Given the description of an element on the screen output the (x, y) to click on. 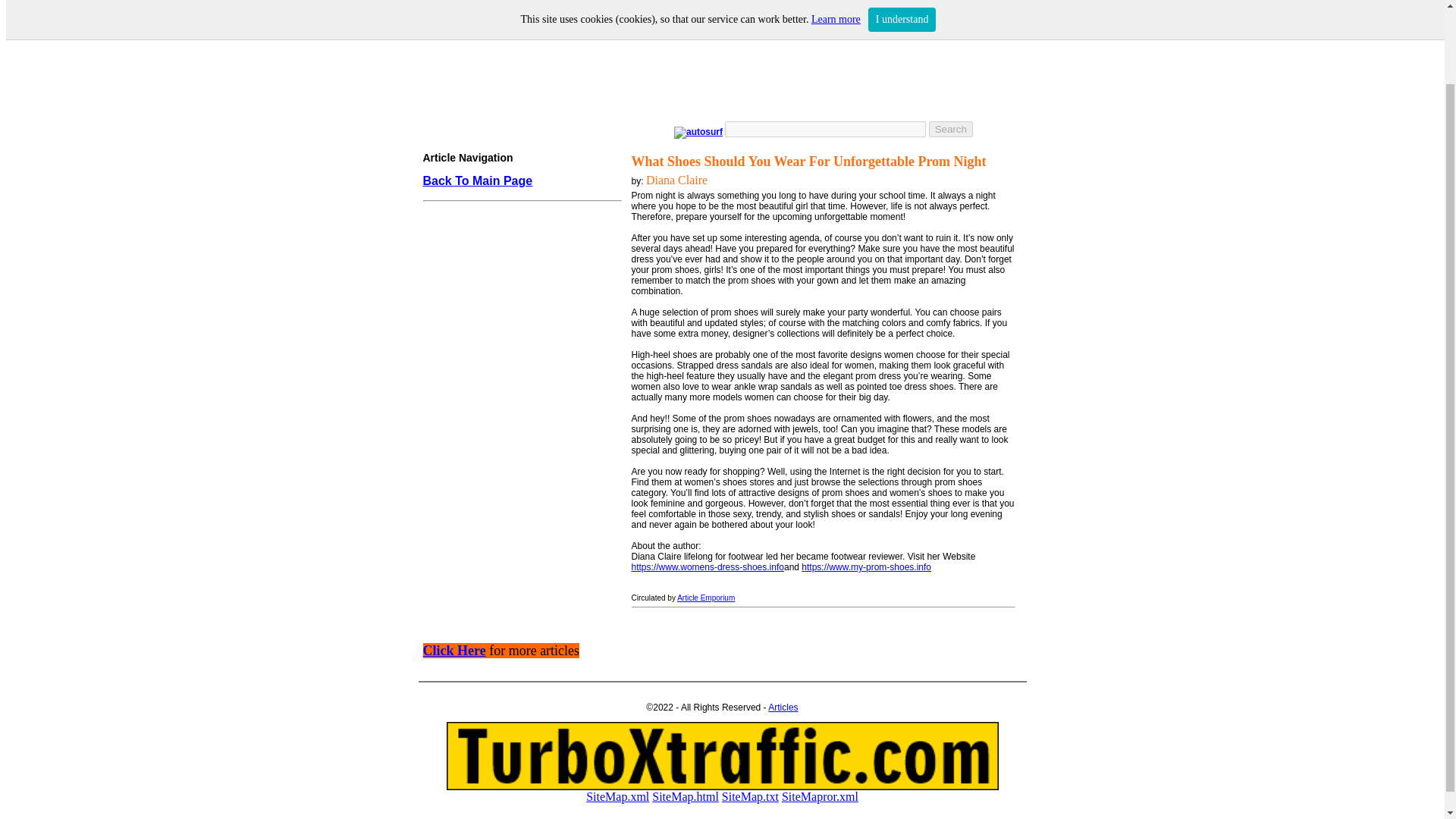
Back To Main Page (477, 181)
SiteMapror.xml (820, 796)
Advertisement (517, 510)
SiteMap.txt (750, 796)
Articles (782, 706)
Search (950, 128)
SiteMap.html (685, 796)
Search (950, 128)
Click Here (454, 650)
Article Emporium (706, 597)
SiteMap.xml (617, 796)
Advertisement (718, 69)
